Given the description of an element on the screen output the (x, y) to click on. 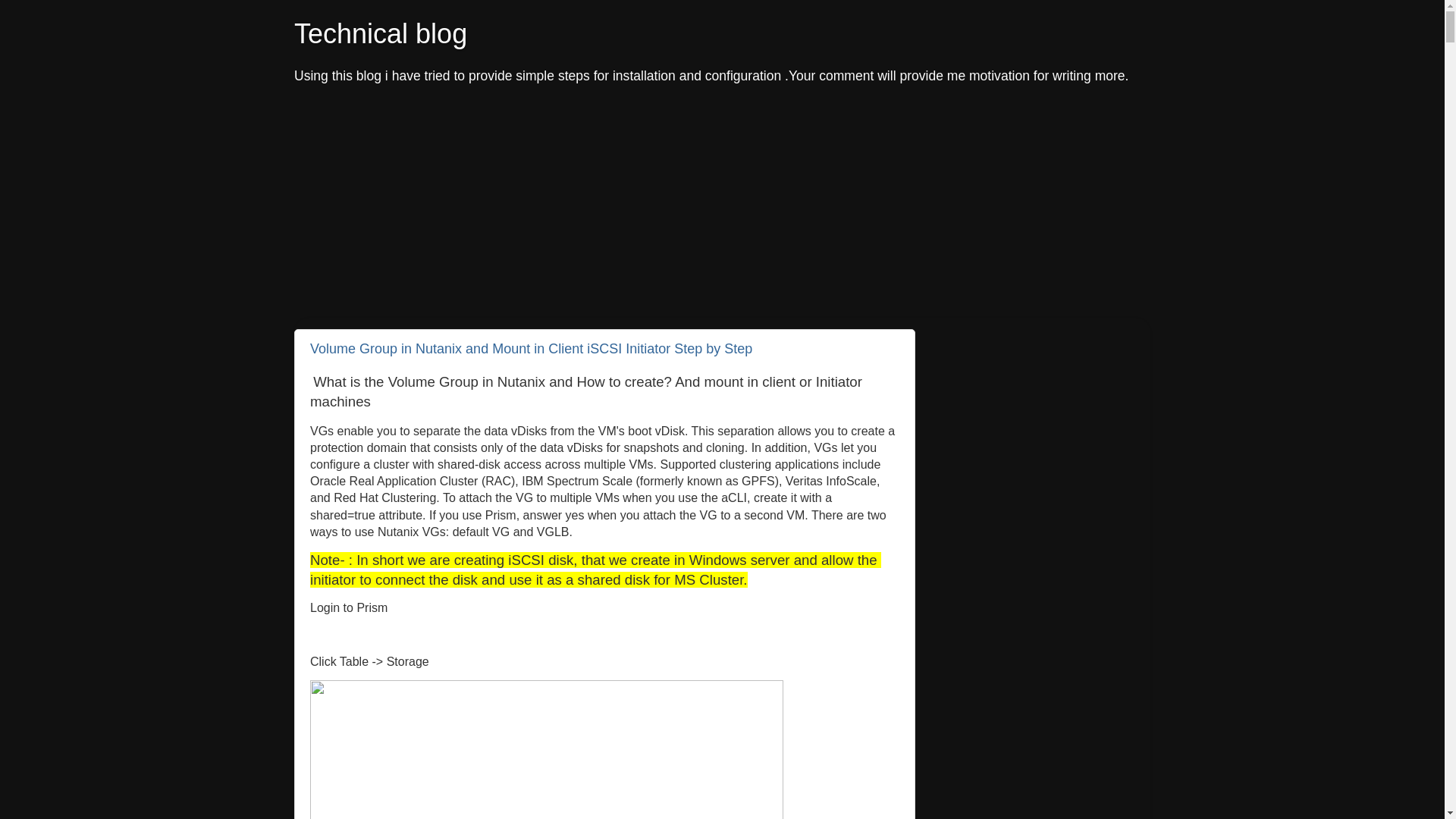
Technical blog (380, 33)
